Given the description of an element on the screen output the (x, y) to click on. 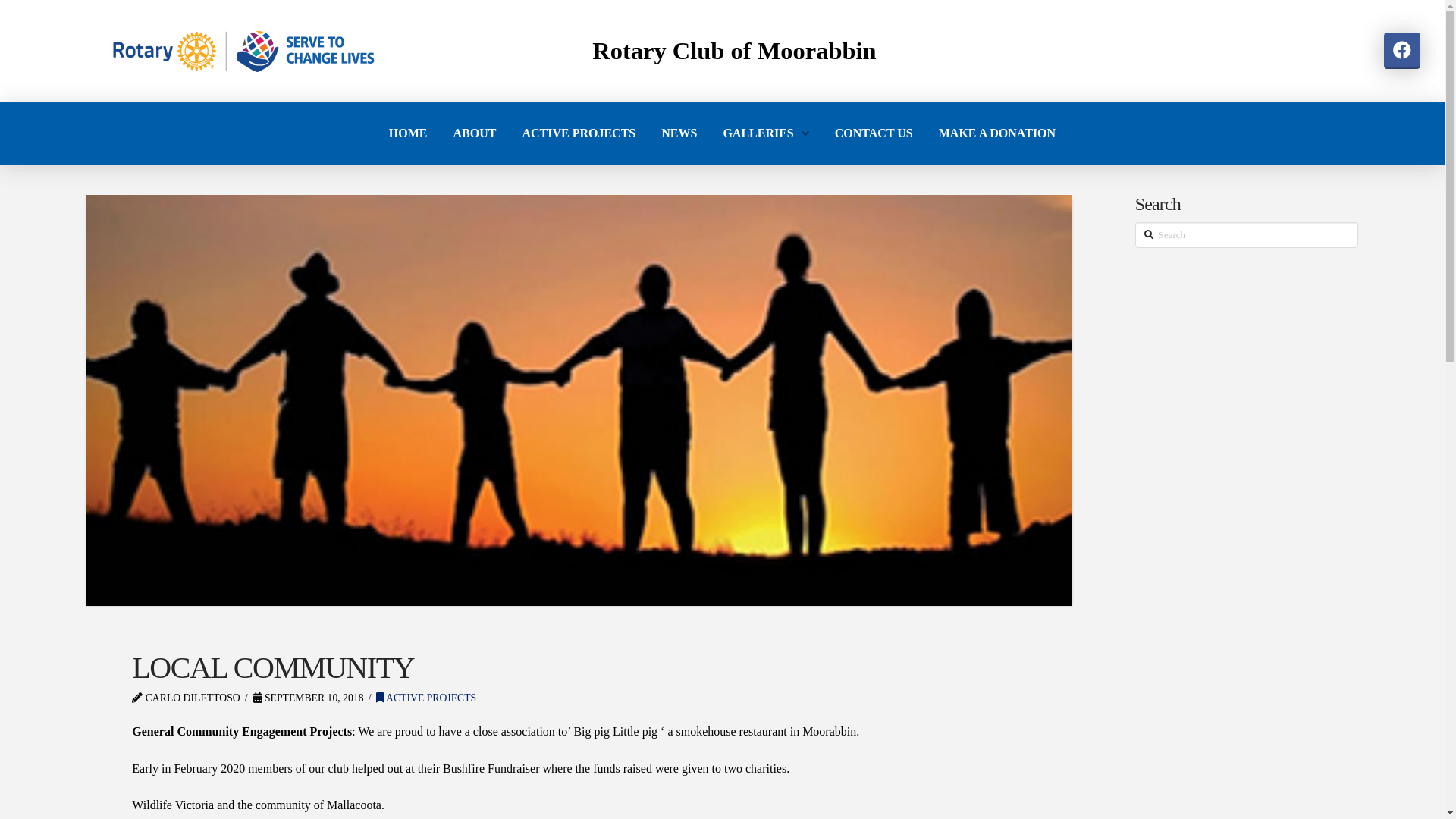
ACTIVE PROJECTS Element type: text (578, 133)
ACTIVE PROJECTS Element type: text (426, 697)
ABOUT Element type: text (474, 133)
CONTACT US Element type: text (873, 133)
MAKE A DONATION Element type: text (996, 133)
HOME Element type: text (408, 133)
NEWS Element type: text (678, 133)
GALLERIES Element type: text (765, 133)
